Given the description of an element on the screen output the (x, y) to click on. 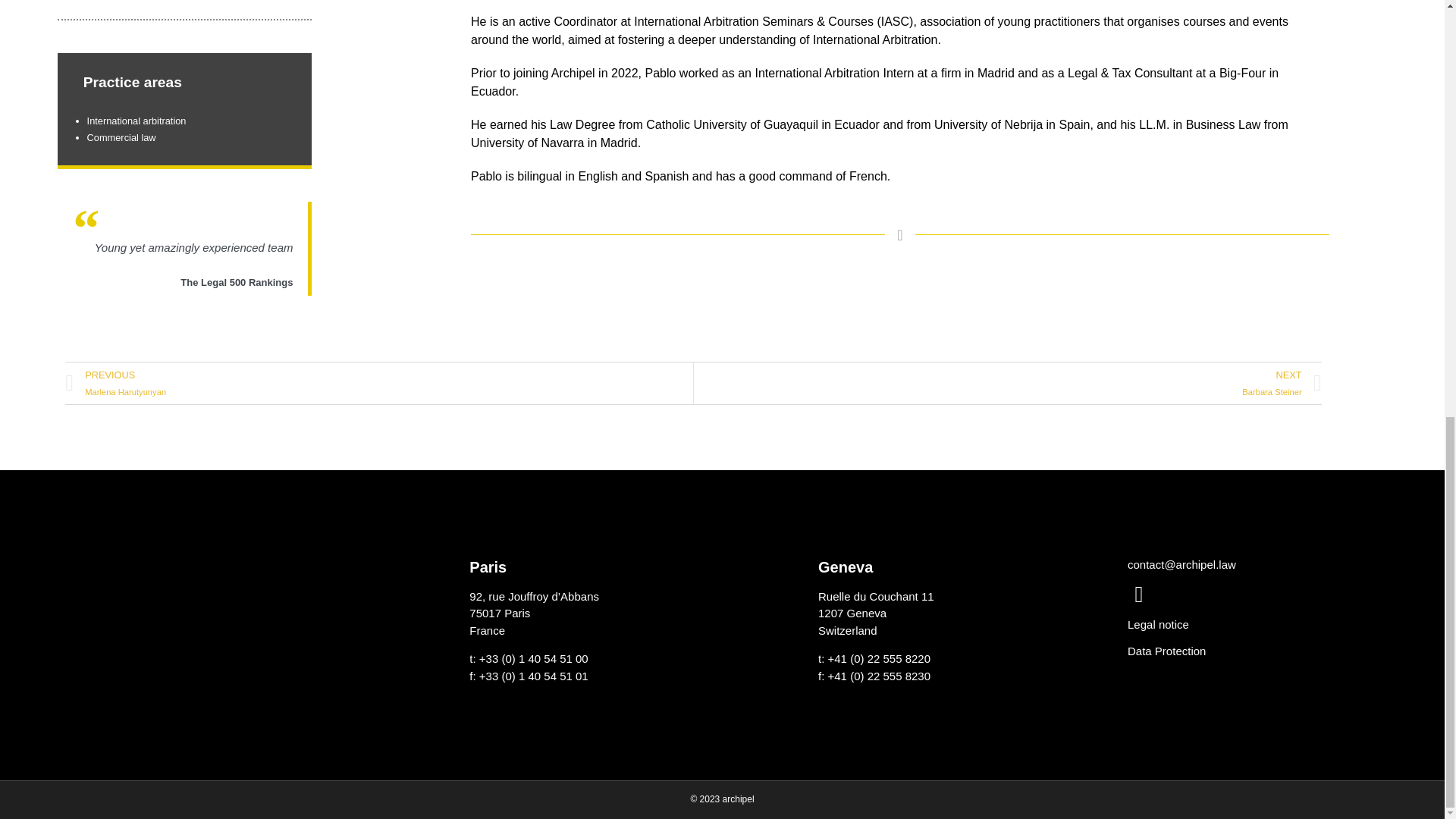
Linkedin-in (379, 383)
Data Protection (1138, 594)
Legal notice (1165, 650)
